Given the description of an element on the screen output the (x, y) to click on. 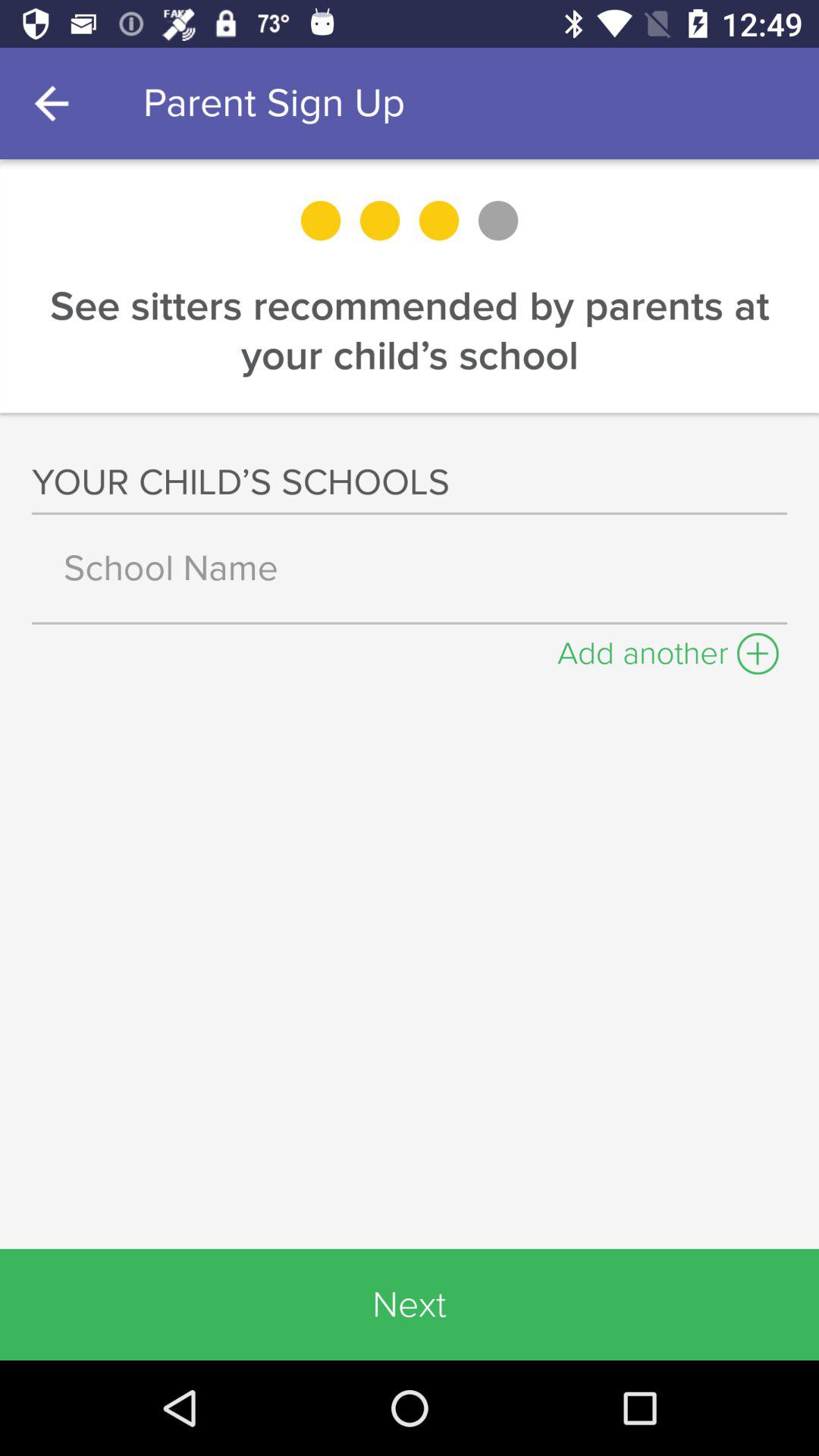
type school name (409, 568)
